Given the description of an element on the screen output the (x, y) to click on. 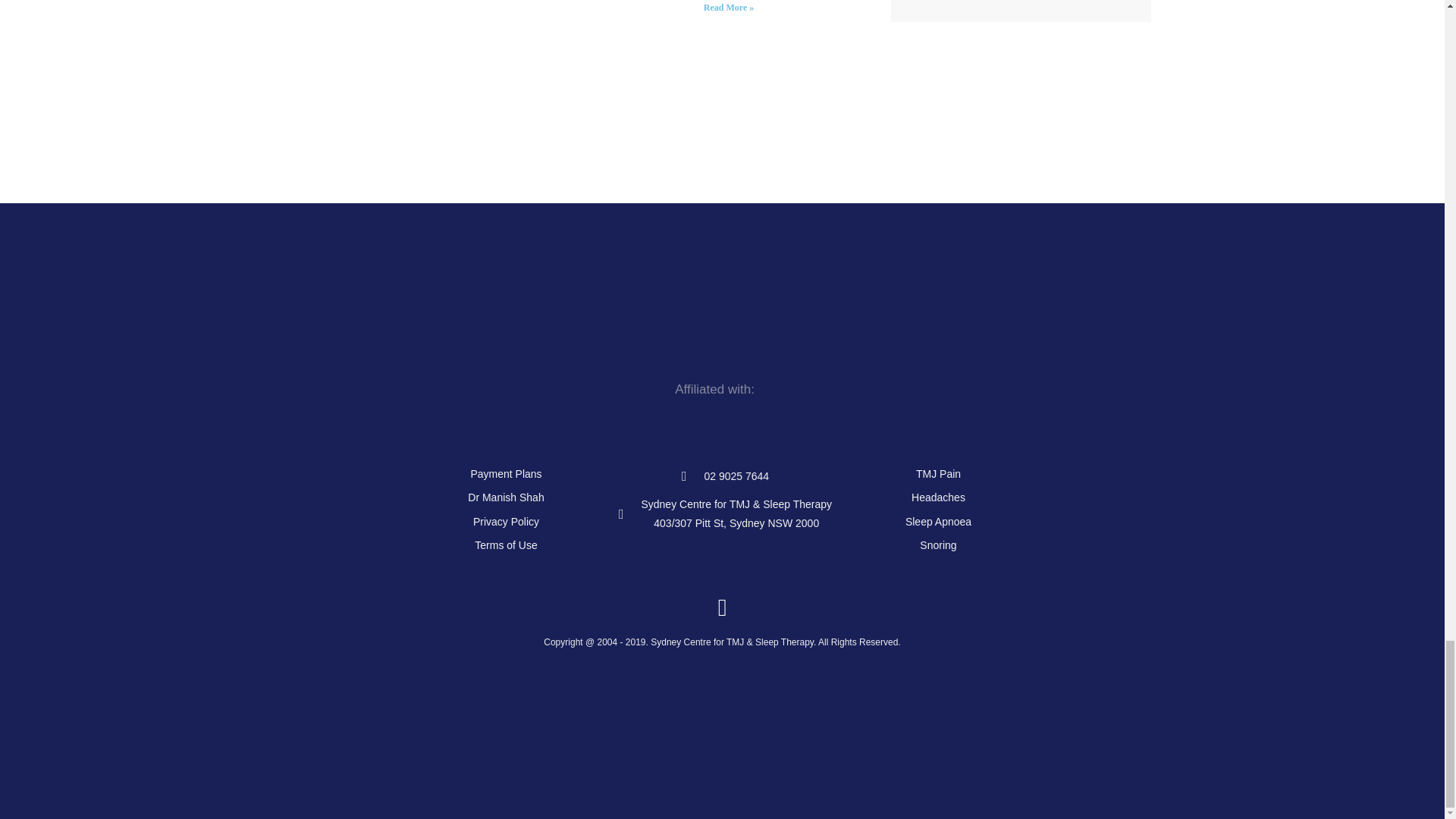
DMCA.com Protection Status (715, 780)
